Given the description of an element on the screen output the (x, y) to click on. 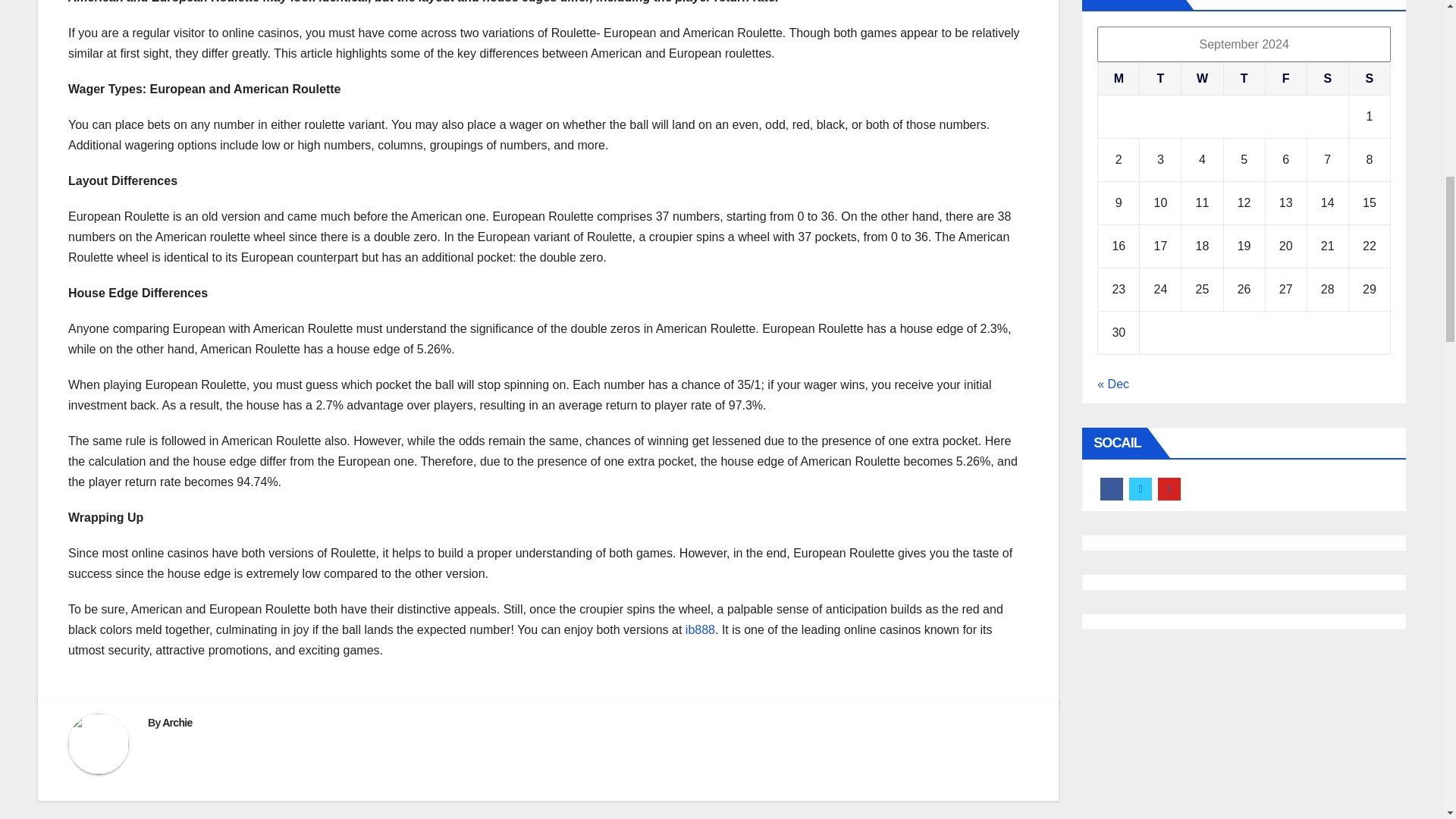
Friday (1285, 78)
Tuesday (1160, 78)
Archie (176, 722)
Monday (1118, 78)
ib888 (699, 629)
Sunday (1369, 78)
Wednesday (1201, 78)
Thursday (1244, 78)
Saturday (1327, 78)
